Given the description of an element on the screen output the (x, y) to click on. 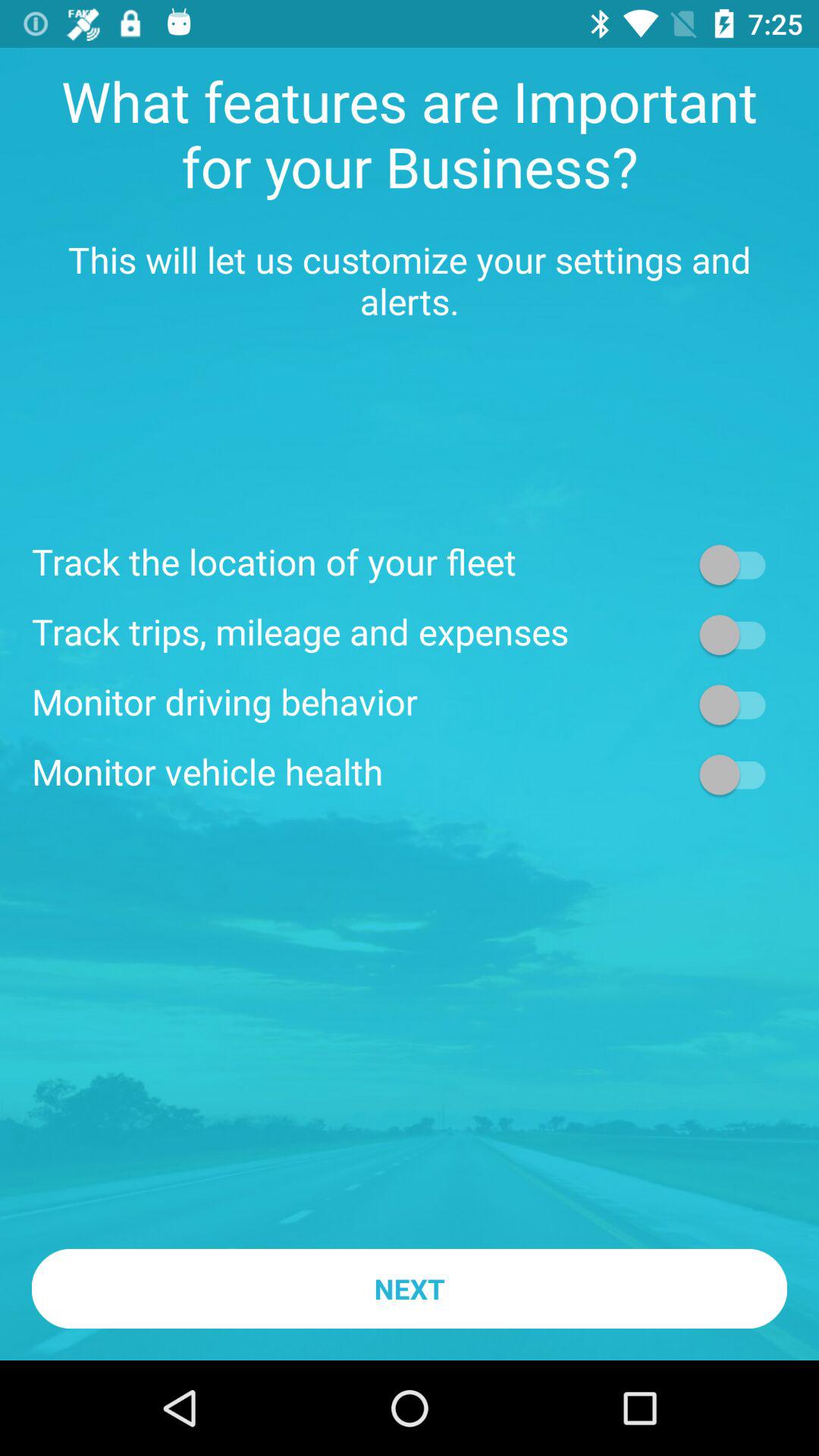
toggle selection (739, 704)
